Given the description of an element on the screen output the (x, y) to click on. 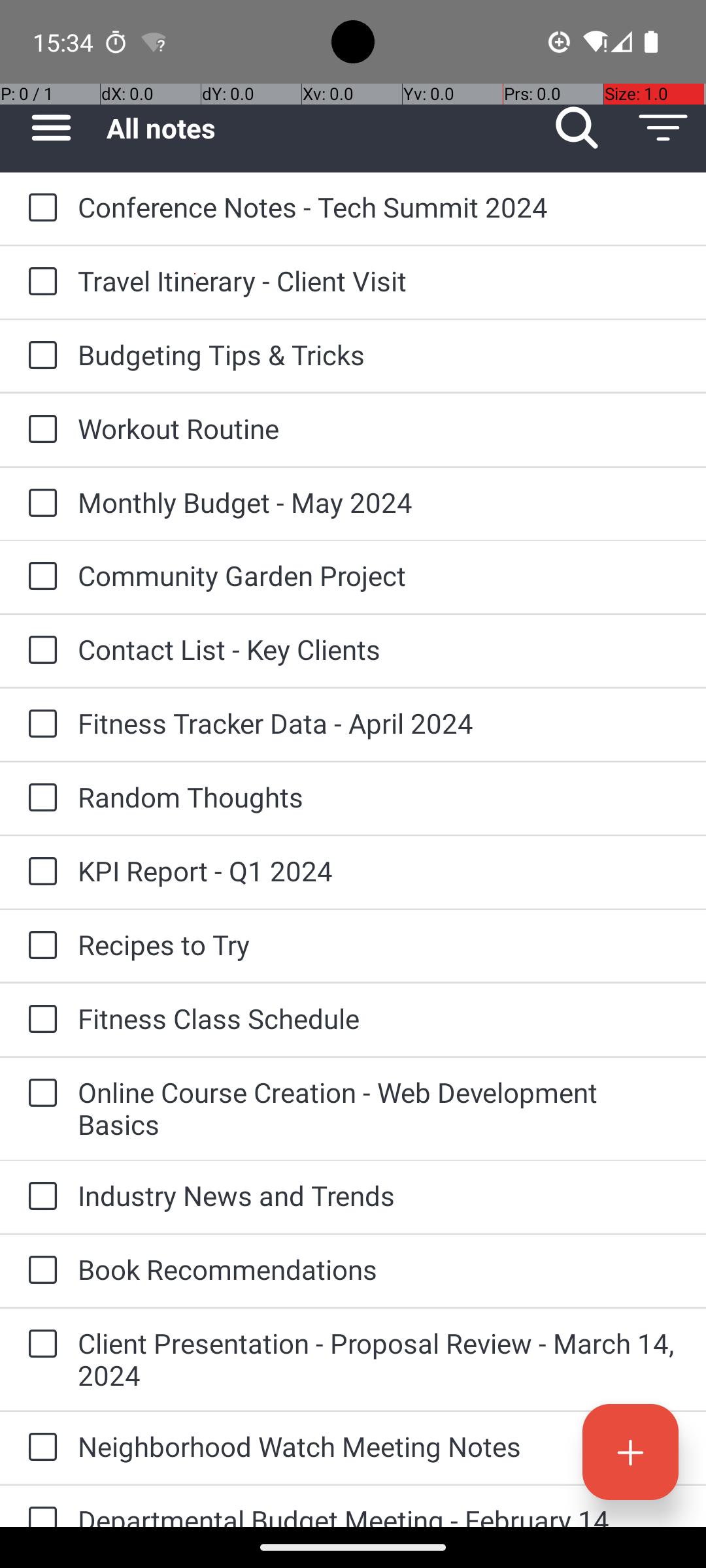
to-do: Conference Notes - Tech Summit 2024 Element type: android.widget.CheckBox (38, 208)
Conference Notes - Tech Summit 2024 Element type: android.widget.TextView (378, 206)
to-do: Travel Itinerary - Client Visit Element type: android.widget.CheckBox (38, 282)
Travel Itinerary - Client Visit Element type: android.widget.TextView (378, 280)
to-do: Workout Routine Element type: android.widget.CheckBox (38, 429)
Workout Routine Element type: android.widget.TextView (378, 427)
to-do: Monthly Budget - May 2024 Element type: android.widget.CheckBox (38, 503)
Monthly Budget - May 2024 Element type: android.widget.TextView (378, 501)
to-do: Community Garden Project Element type: android.widget.CheckBox (38, 576)
to-do: Contact List - Key Clients Element type: android.widget.CheckBox (38, 650)
Contact List - Key Clients Element type: android.widget.TextView (378, 648)
to-do: Random Thoughts Element type: android.widget.CheckBox (38, 798)
Random Thoughts Element type: android.widget.TextView (378, 796)
to-do: KPI Report - Q1 2024 Element type: android.widget.CheckBox (38, 872)
KPI Report - Q1 2024 Element type: android.widget.TextView (378, 870)
to-do: Recipes to Try Element type: android.widget.CheckBox (38, 945)
Recipes to Try Element type: android.widget.TextView (378, 944)
to-do: Fitness Class Schedule Element type: android.widget.CheckBox (38, 1019)
to-do: Online Course Creation - Web Development Basics Element type: android.widget.CheckBox (38, 1093)
to-do: Industry News and Trends Element type: android.widget.CheckBox (38, 1196)
Industry News and Trends Element type: android.widget.TextView (378, 1194)
to-do: Book Recommendations Element type: android.widget.CheckBox (38, 1270)
Book Recommendations Element type: android.widget.TextView (378, 1268)
to-do: Client Presentation - Proposal Review - March 14, 2024 Element type: android.widget.CheckBox (38, 1344)
Client Presentation - Proposal Review - March 14, 2024 Element type: android.widget.TextView (378, 1358)
to-do: Neighborhood Watch Meeting Notes Element type: android.widget.CheckBox (38, 1447)
Neighborhood Watch Meeting Notes Element type: android.widget.TextView (378, 1445)
to-do: Departmental Budget Meeting - February 14, 2024 Element type: android.widget.CheckBox (38, 1505)
Departmental Budget Meeting - February 14, 2024 Element type: android.widget.TextView (378, 1513)
